Given the description of an element on the screen output the (x, y) to click on. 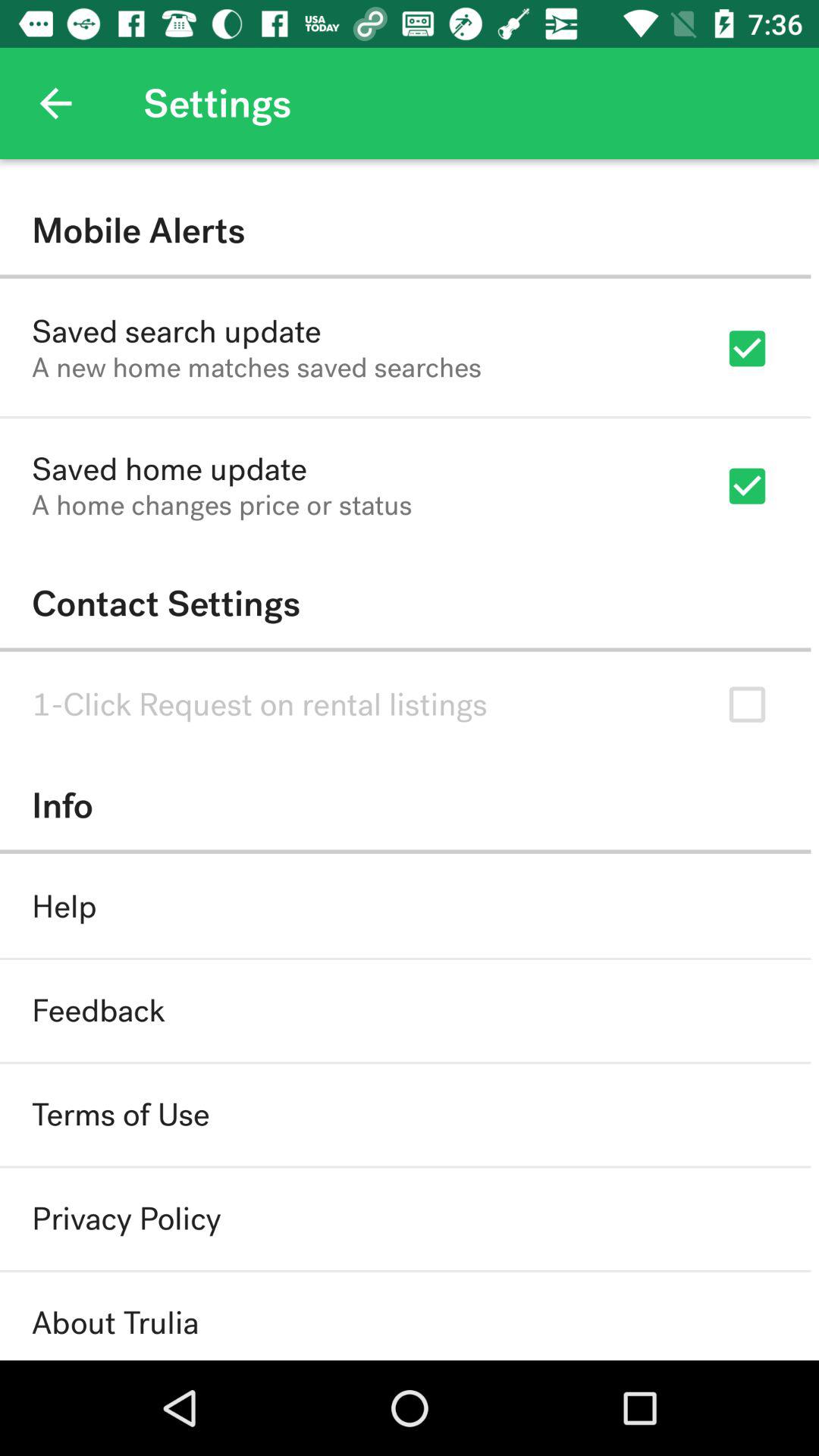
select the item above privacy policy icon (120, 1114)
